Given the description of an element on the screen output the (x, y) to click on. 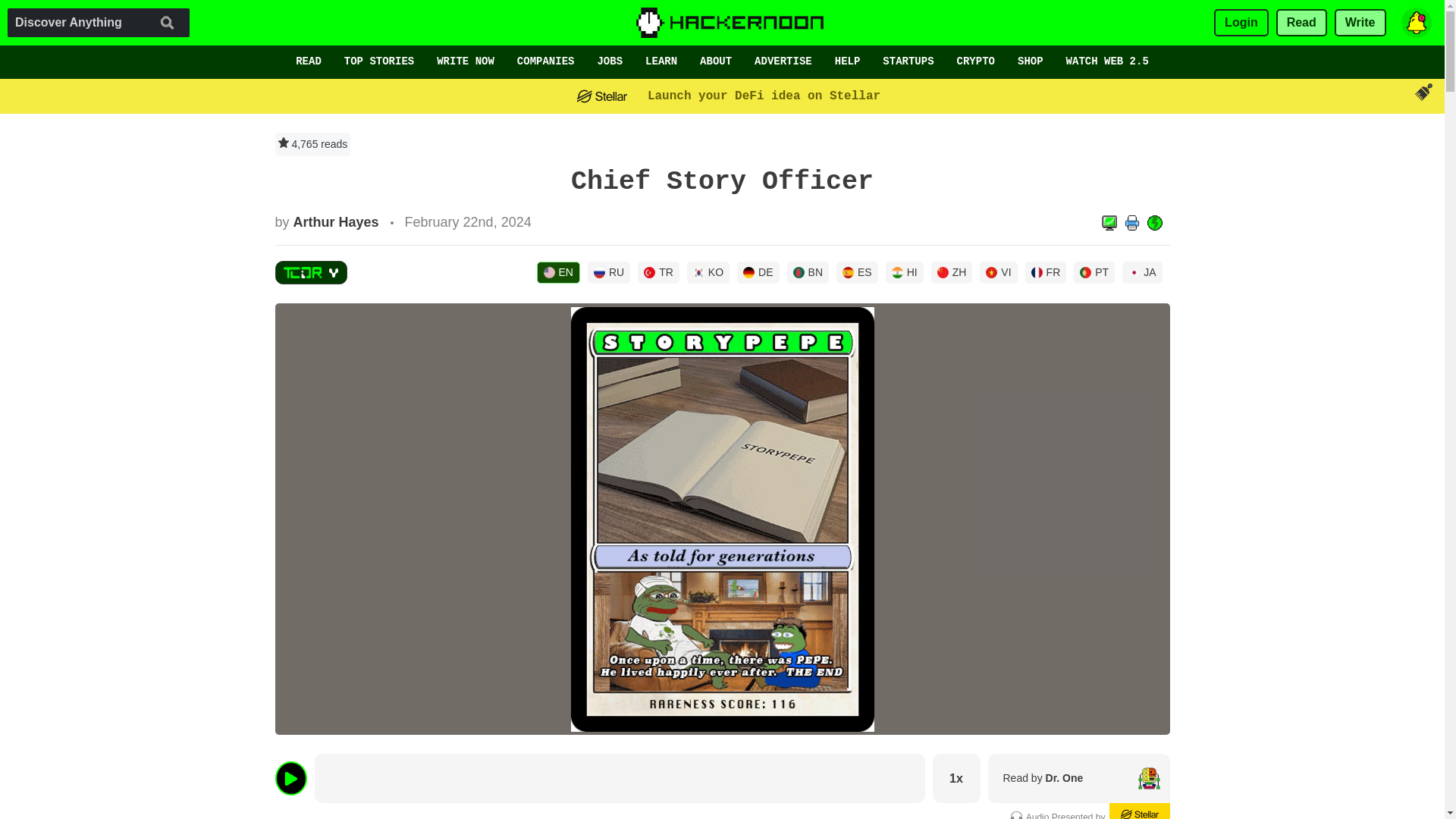
Write (1360, 22)
Login (1241, 22)
Read (1301, 22)
